Given the description of an element on the screen output the (x, y) to click on. 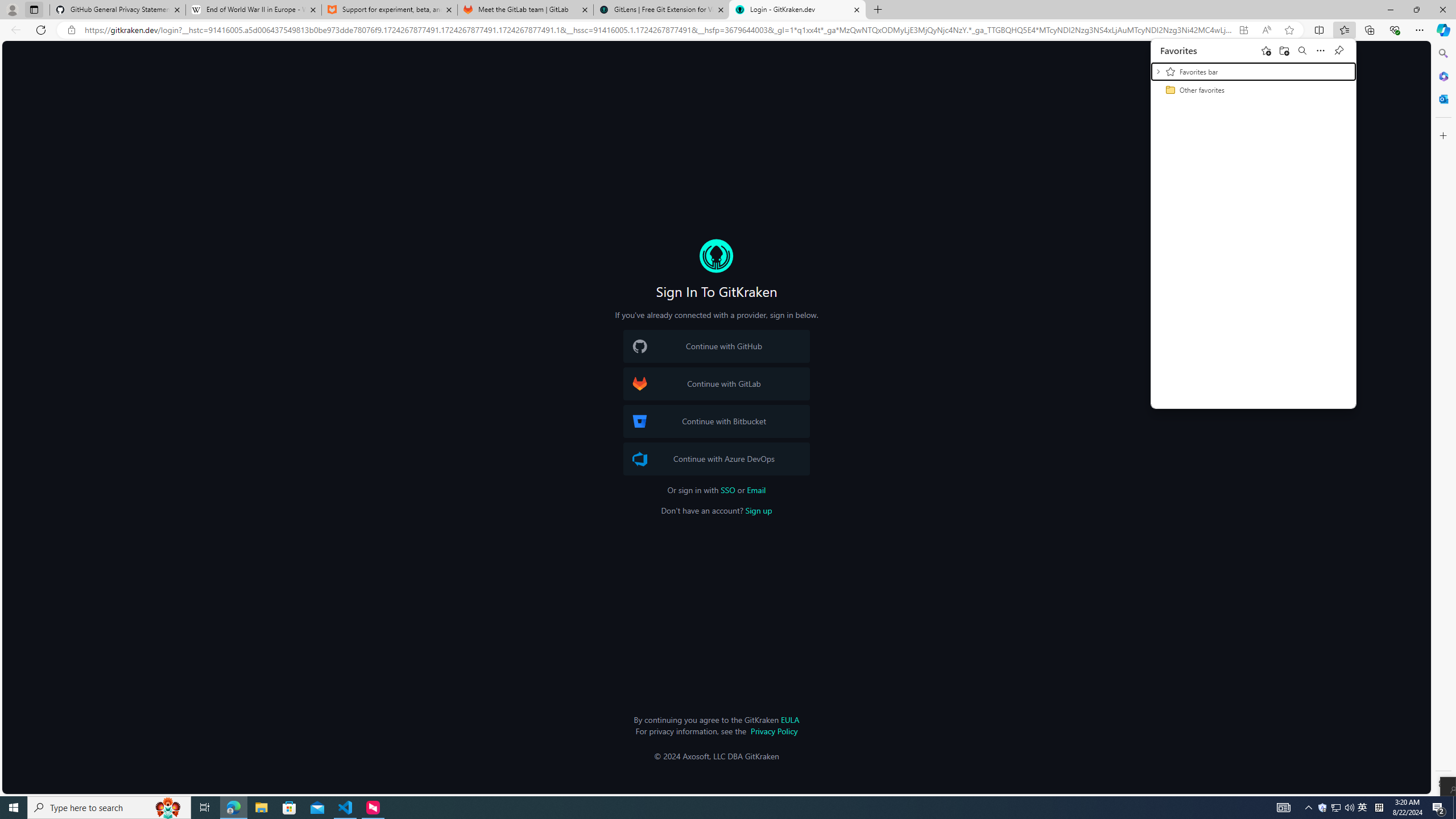
SSO (727, 489)
GitLab Logo Continue with GitLab (716, 383)
EULA (789, 719)
Add folder (1284, 49)
GitLab Logo (639, 383)
GitHub Logo (639, 346)
Meet the GitLab team | GitLab (525, 9)
GitLens | Free Git Extension for Visual Studio Code (660, 9)
